Given the description of an element on the screen output the (x, y) to click on. 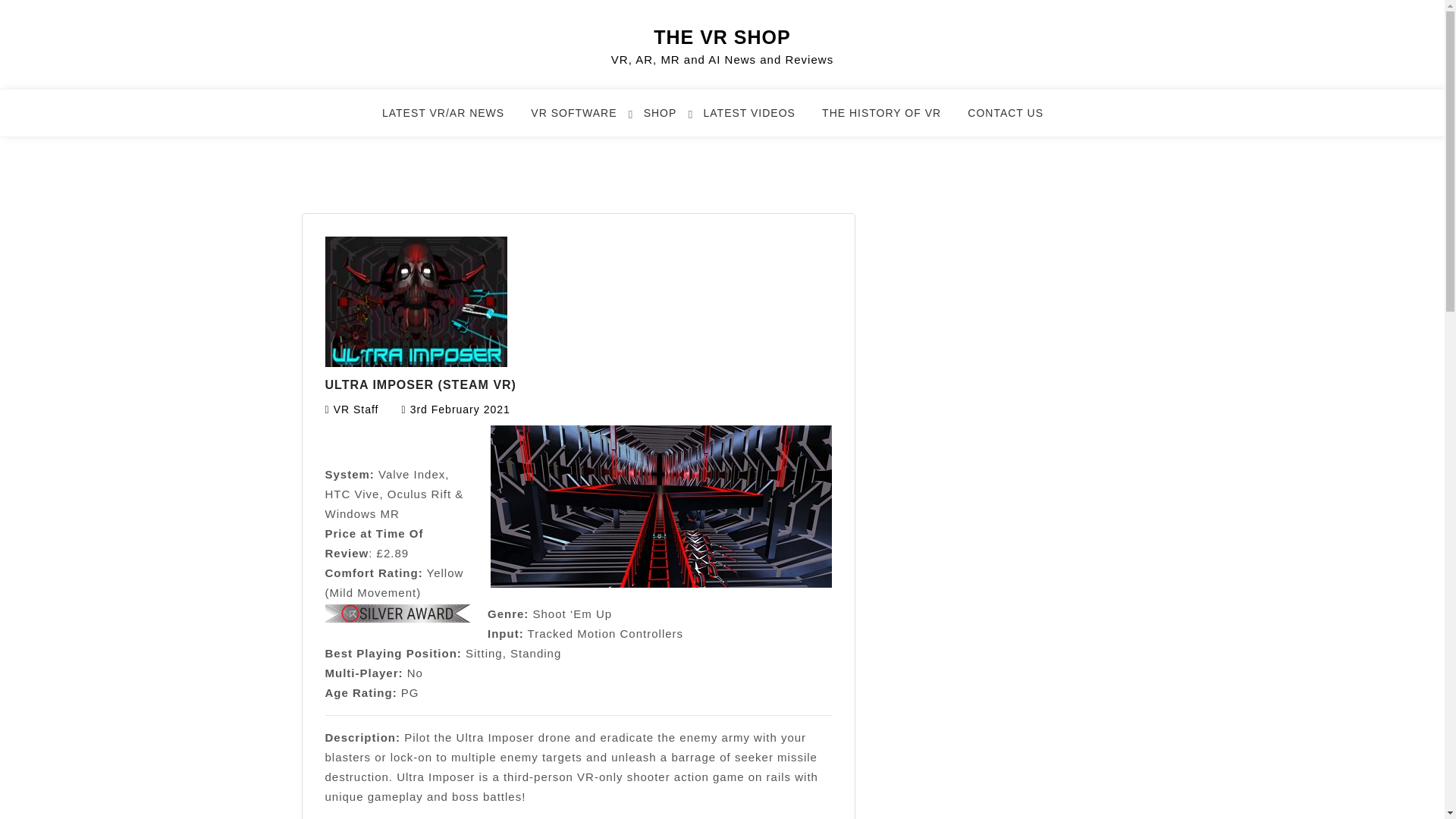
VR Staff (355, 409)
VR SOFTWARE (582, 119)
3rd February 2021 (460, 409)
LATEST VIDEOS (758, 119)
THE VR SHOP (721, 36)
THE HISTORY OF VR (890, 119)
SHOP (669, 119)
CONTACT US (1015, 119)
